Given the description of an element on the screen output the (x, y) to click on. 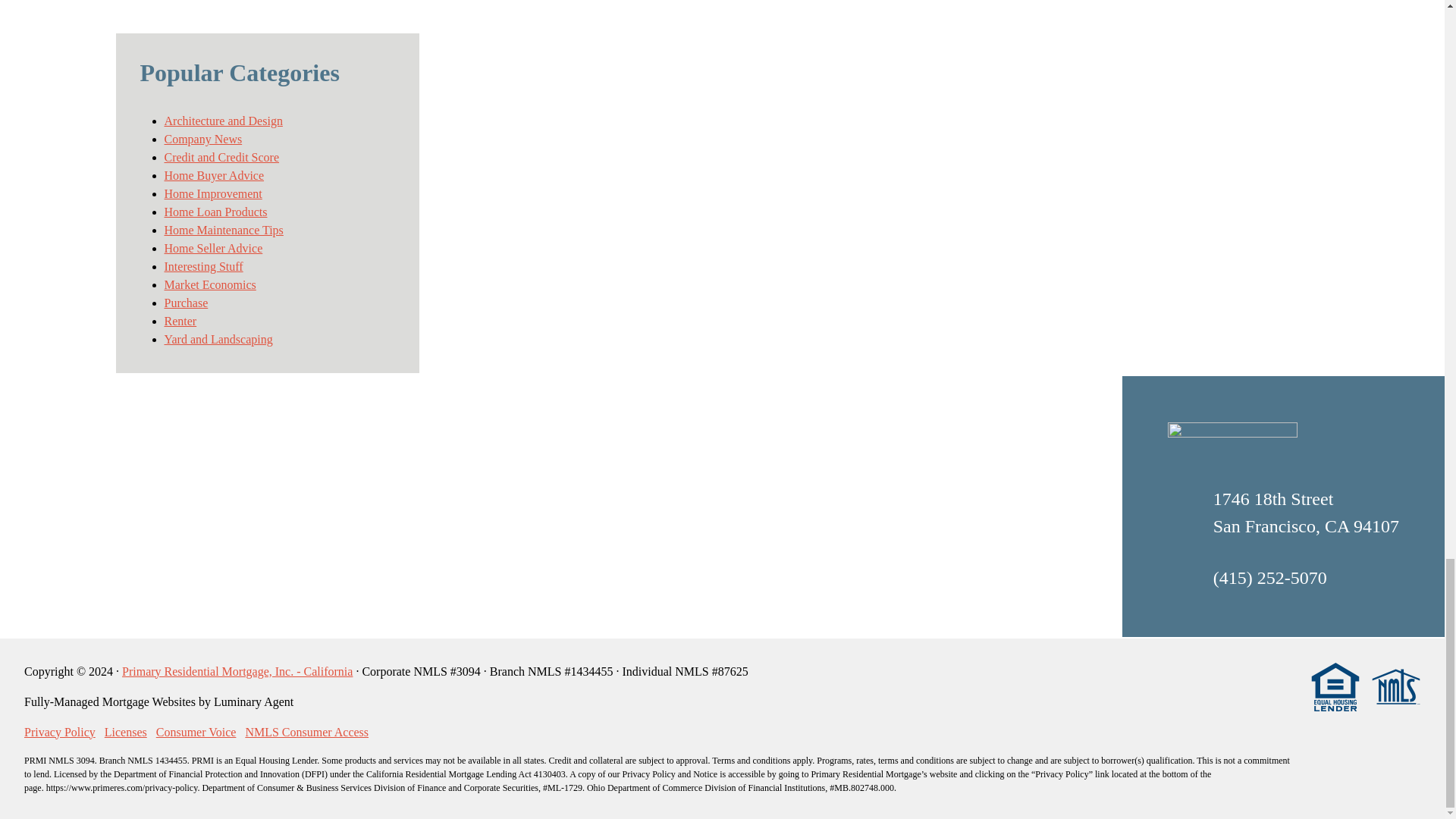
Company News (202, 138)
Home Buyer Advice (213, 174)
Architecture and Design (222, 120)
Credit and Credit Score (221, 156)
